Given the description of an element on the screen output the (x, y) to click on. 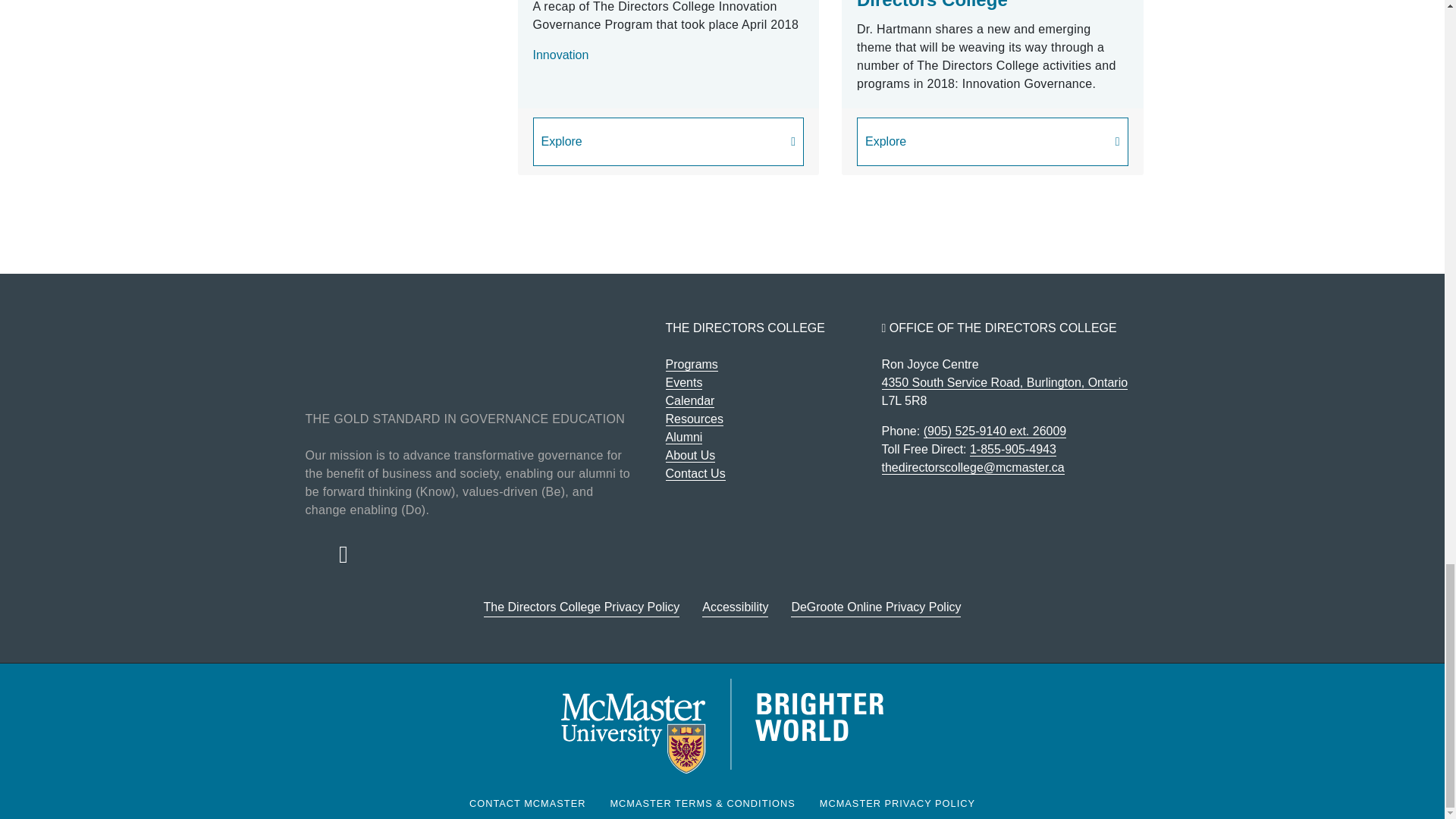
Google Map for the Ron Joyce Centre (1003, 382)
